Given the description of an element on the screen output the (x, y) to click on. 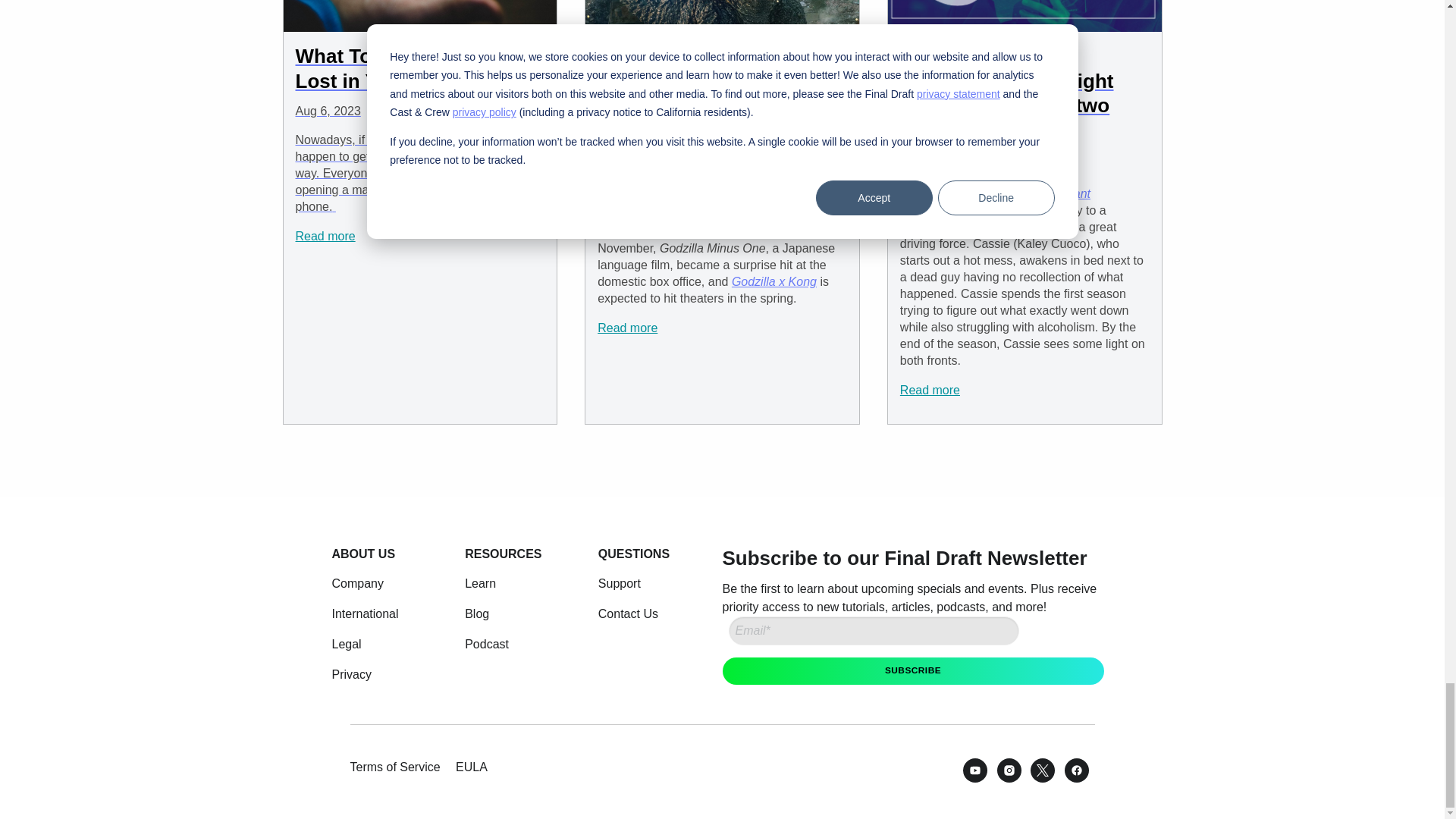
Subscribe (912, 670)
